Given the description of an element on the screen output the (x, y) to click on. 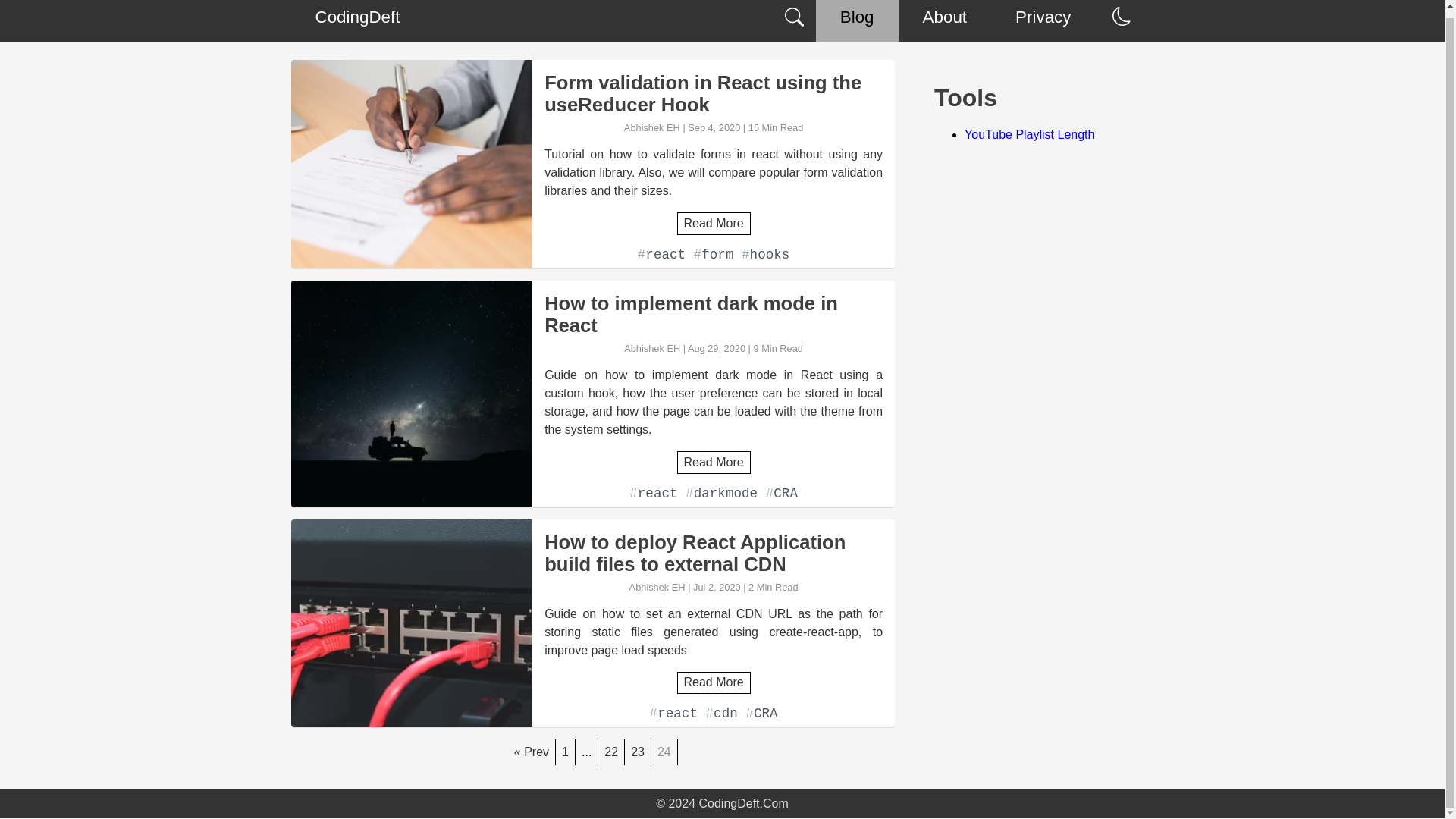
Read More (714, 681)
Switch to Dark Mode (1120, 16)
23 (637, 751)
Read More (714, 223)
Blog (856, 20)
Form validation in React using the useReducer Hook (713, 94)
About (944, 20)
1 (565, 751)
How to deploy React Application build files to external CDN (713, 553)
How to implement dark mode in React (713, 314)
22 (611, 751)
Switch to Dark Mode (1121, 15)
CodingDeft (357, 20)
Read More (714, 461)
YouTube Playlist Length (1028, 133)
